Given the description of an element on the screen output the (x, y) to click on. 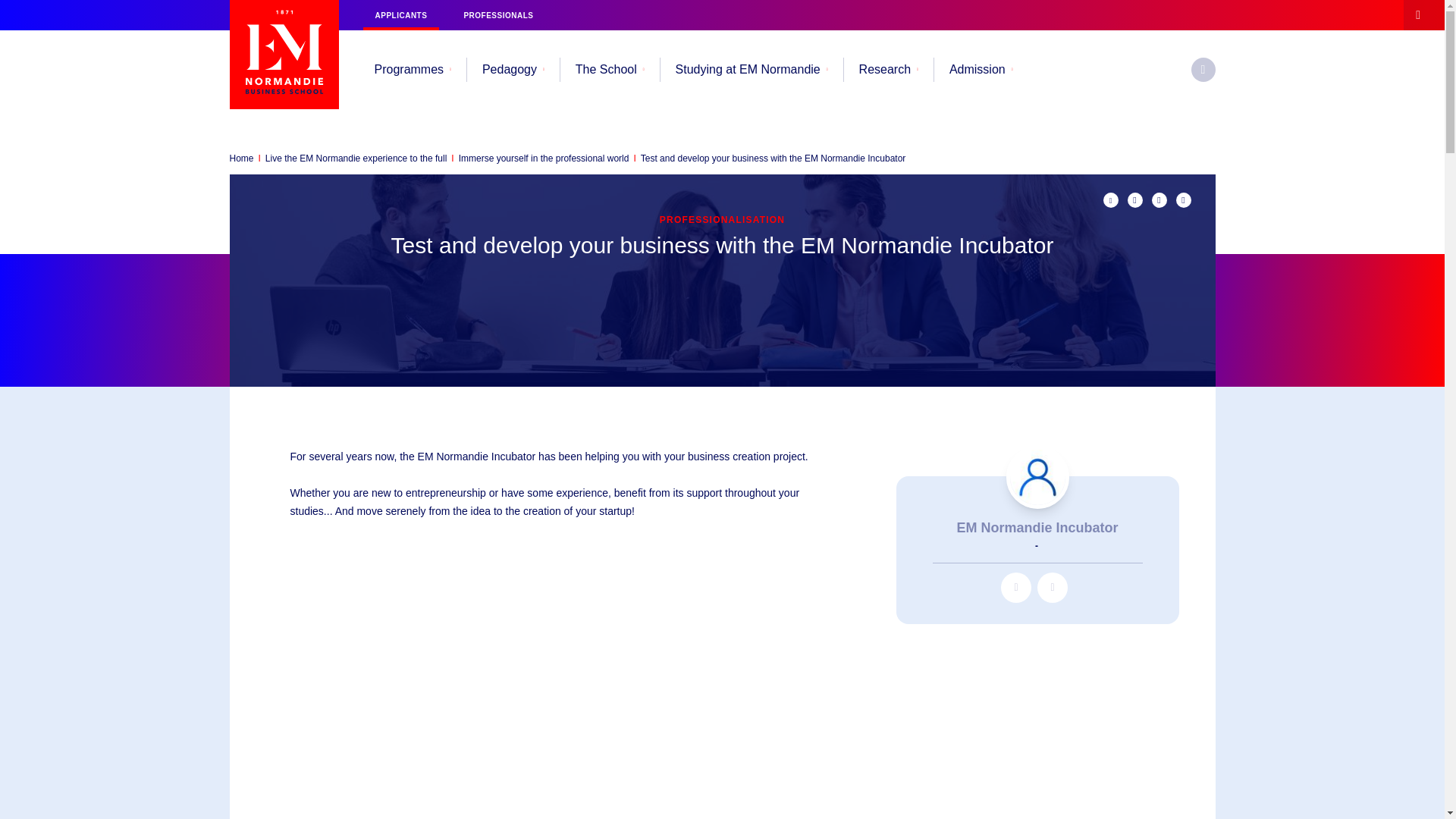
I am a non-French student (400, 15)
Partager sur Linkedin (1158, 200)
Partager sur Facebook (1182, 200)
Partager par mail (1110, 200)
contacter par e-mail (1051, 587)
I am a professional (497, 15)
Partager sur twitter (1133, 200)
